Given the description of an element on the screen output the (x, y) to click on. 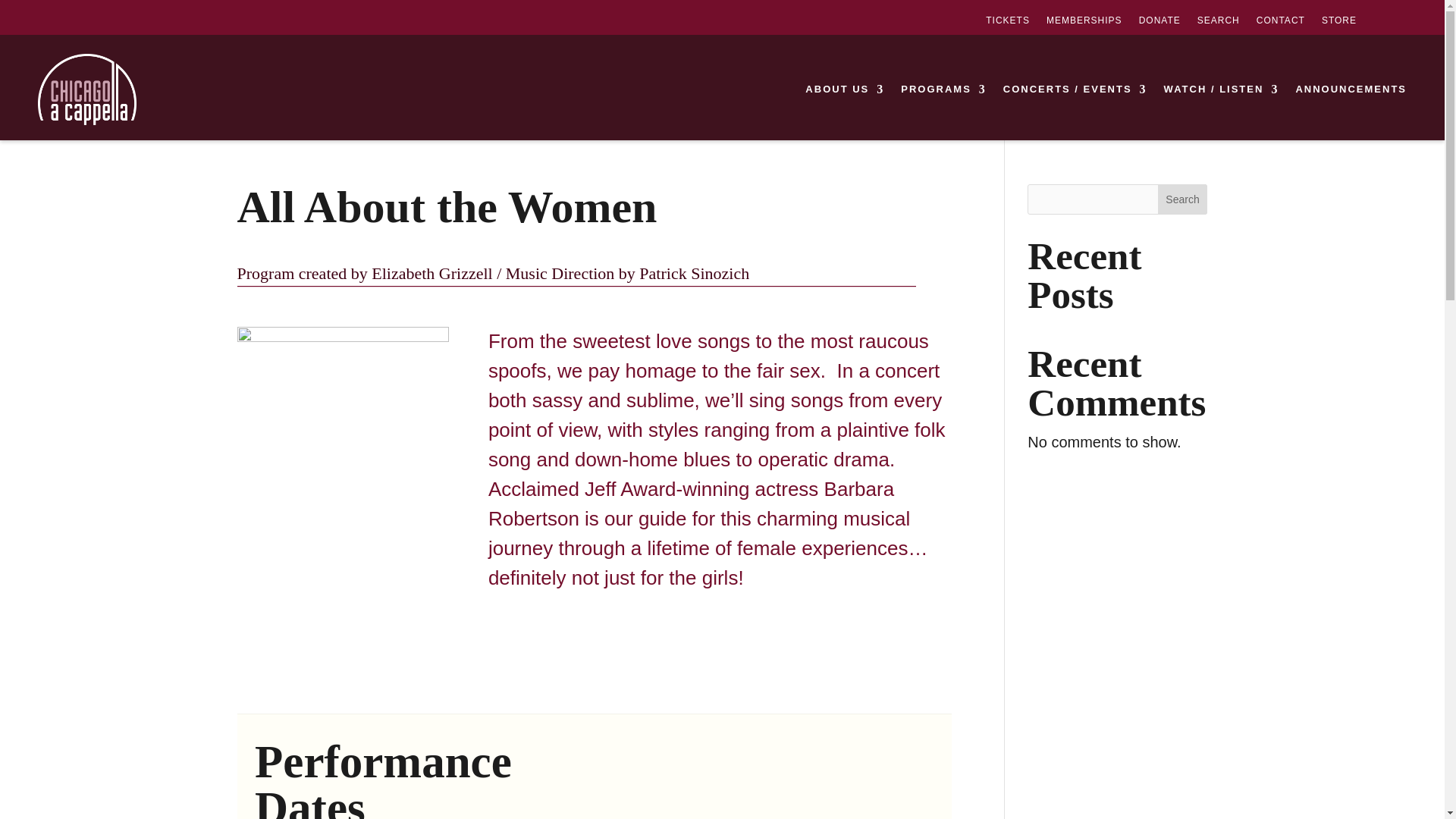
TICKETS (1007, 23)
STORE (1339, 23)
SEARCH (1218, 23)
MEMBERSHIPS (1084, 23)
ABOUT US (844, 89)
DONATE (1159, 23)
PROGRAMS (944, 89)
CONTACT (1280, 23)
